Given the description of an element on the screen output the (x, y) to click on. 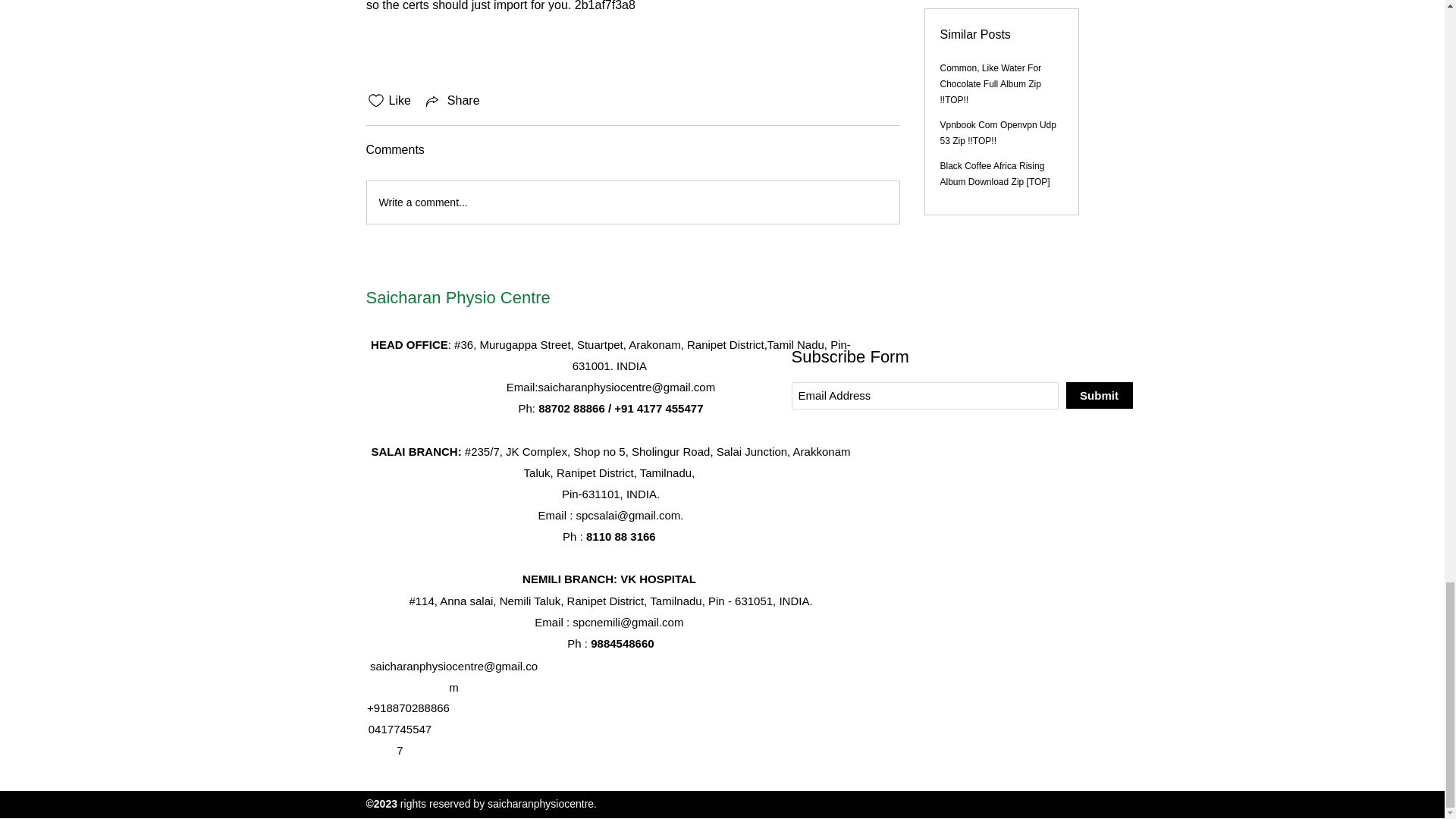
Share (451, 100)
Write a comment... (632, 201)
Saicharan Physio Centre (457, 297)
Submit (1098, 395)
